Given the description of an element on the screen output the (x, y) to click on. 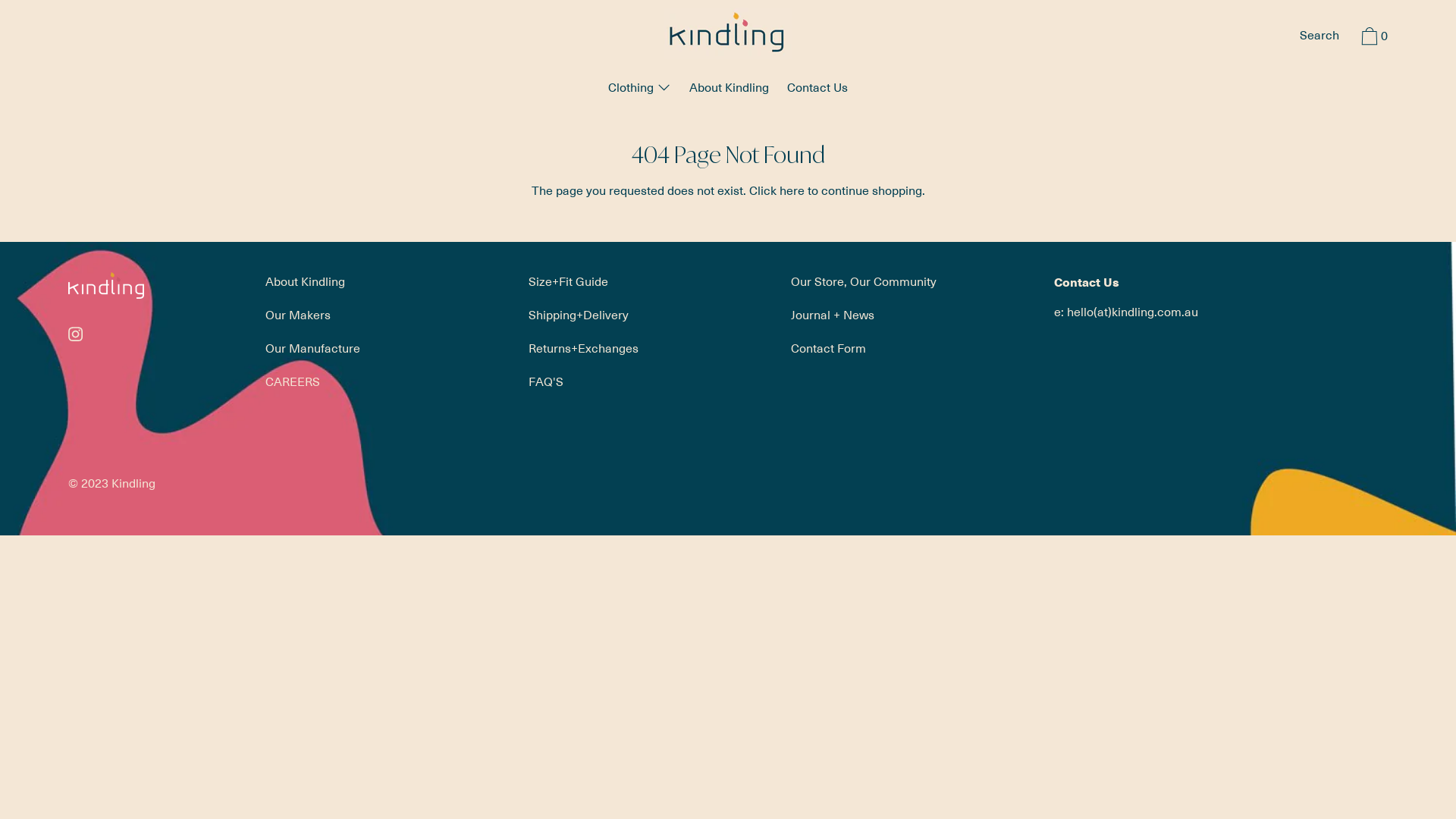
About Kindling Element type: text (728, 89)
FAQ'S Element type: text (545, 381)
0 Element type: text (1372, 38)
here Element type: text (791, 190)
Our Store, Our Community Element type: text (863, 281)
About Kindling Element type: text (304, 281)
Returns+Exchanges Element type: text (583, 347)
Our Manufacture Element type: text (312, 347)
Search Element type: text (1319, 36)
Our Makers Element type: text (297, 314)
Shipping+Delivery Element type: text (578, 314)
Clothing Element type: text (639, 89)
Journal + News Element type: text (832, 314)
Kindling Element type: text (133, 482)
Contact Us Element type: text (817, 89)
Size+Fit Guide Element type: text (567, 281)
CAREERS Element type: text (292, 381)
Contact Form Element type: text (828, 347)
Instagram Element type: text (75, 333)
